Given the description of an element on the screen output the (x, y) to click on. 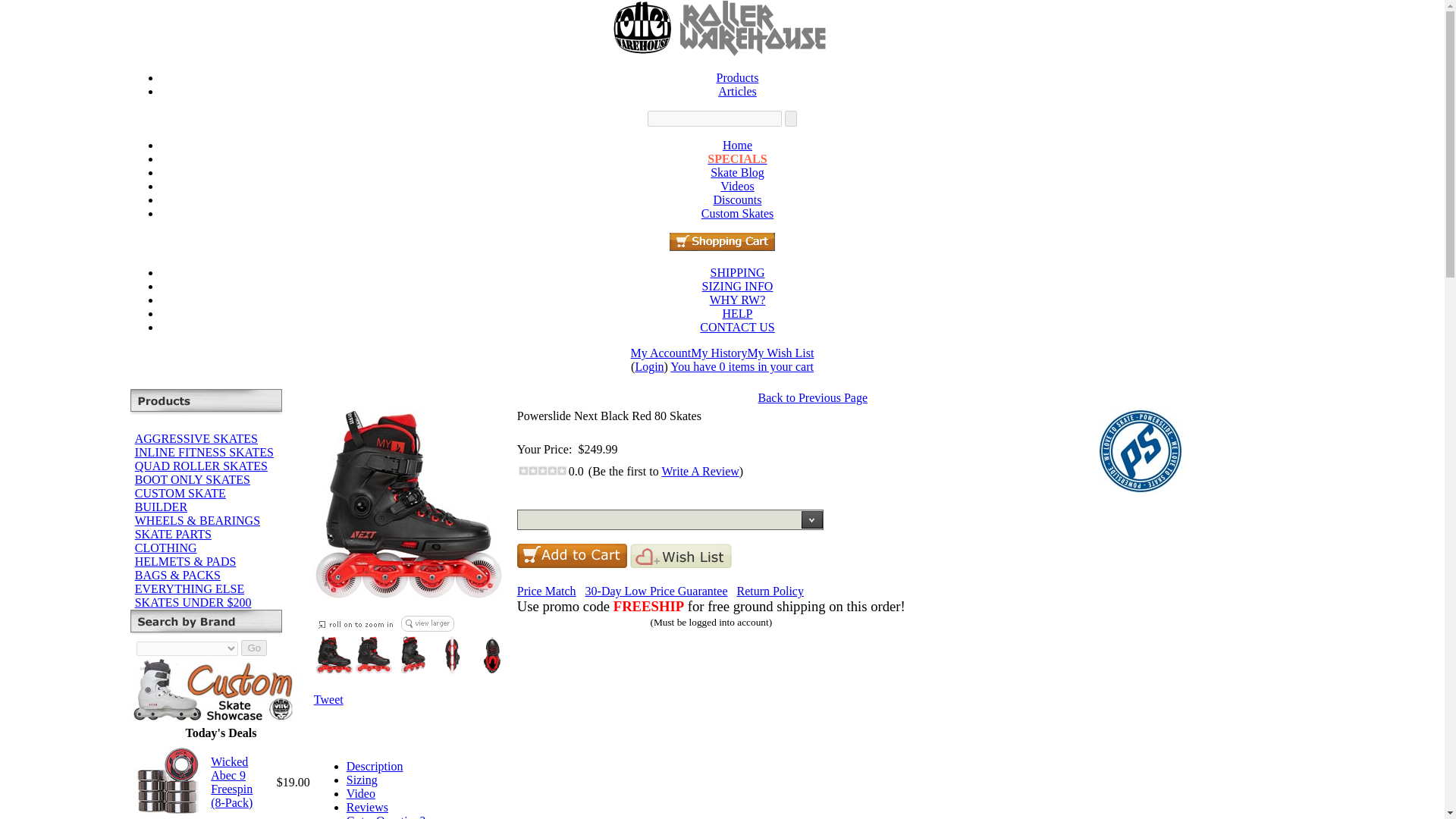
SIZING INFO (737, 286)
Login (648, 366)
Home (737, 272)
Discounts (737, 200)
CUSTOM SKATE BUILDER (180, 499)
Home (737, 313)
EVERYTHING ELSE (189, 588)
Home (737, 327)
Skate Blog (737, 172)
SPECIALS (737, 159)
QUAD ROLLER SKATES (201, 465)
My Account (660, 352)
BOOT ONLY SKATES (192, 479)
Home (737, 299)
Skate Blog (737, 172)
